Given the description of an element on the screen output the (x, y) to click on. 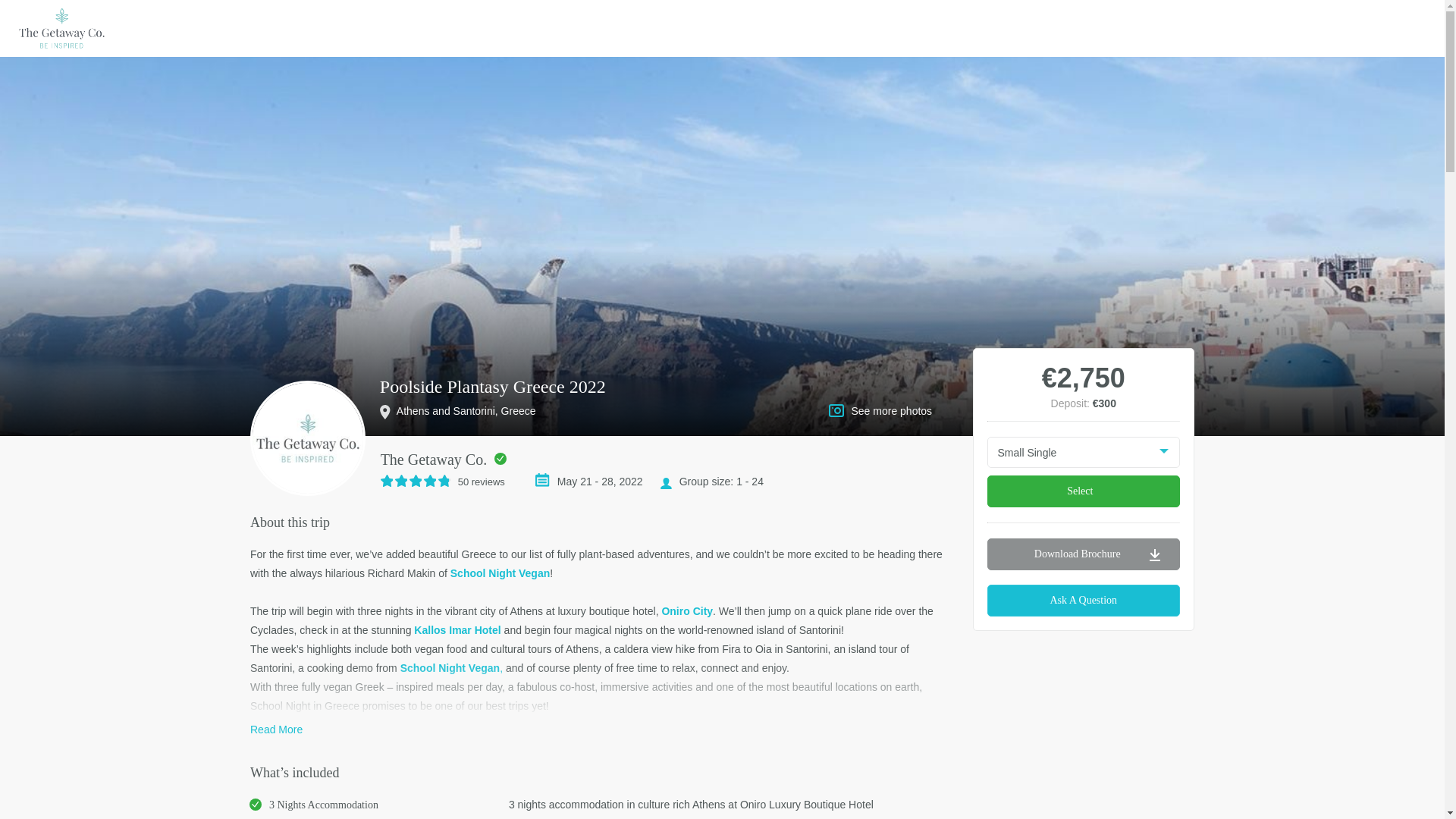
Select (1083, 490)
Download Brochure (1083, 554)
Read More (276, 728)
Ask A Question (1083, 600)
50 reviews (449, 481)
Kallos Imar Hotel (456, 630)
The Getaway Co. (433, 459)
School Night Vegan (499, 573)
See more photos (890, 410)
School Night Vegan, (451, 667)
Oniro City (687, 611)
